Given the description of an element on the screen output the (x, y) to click on. 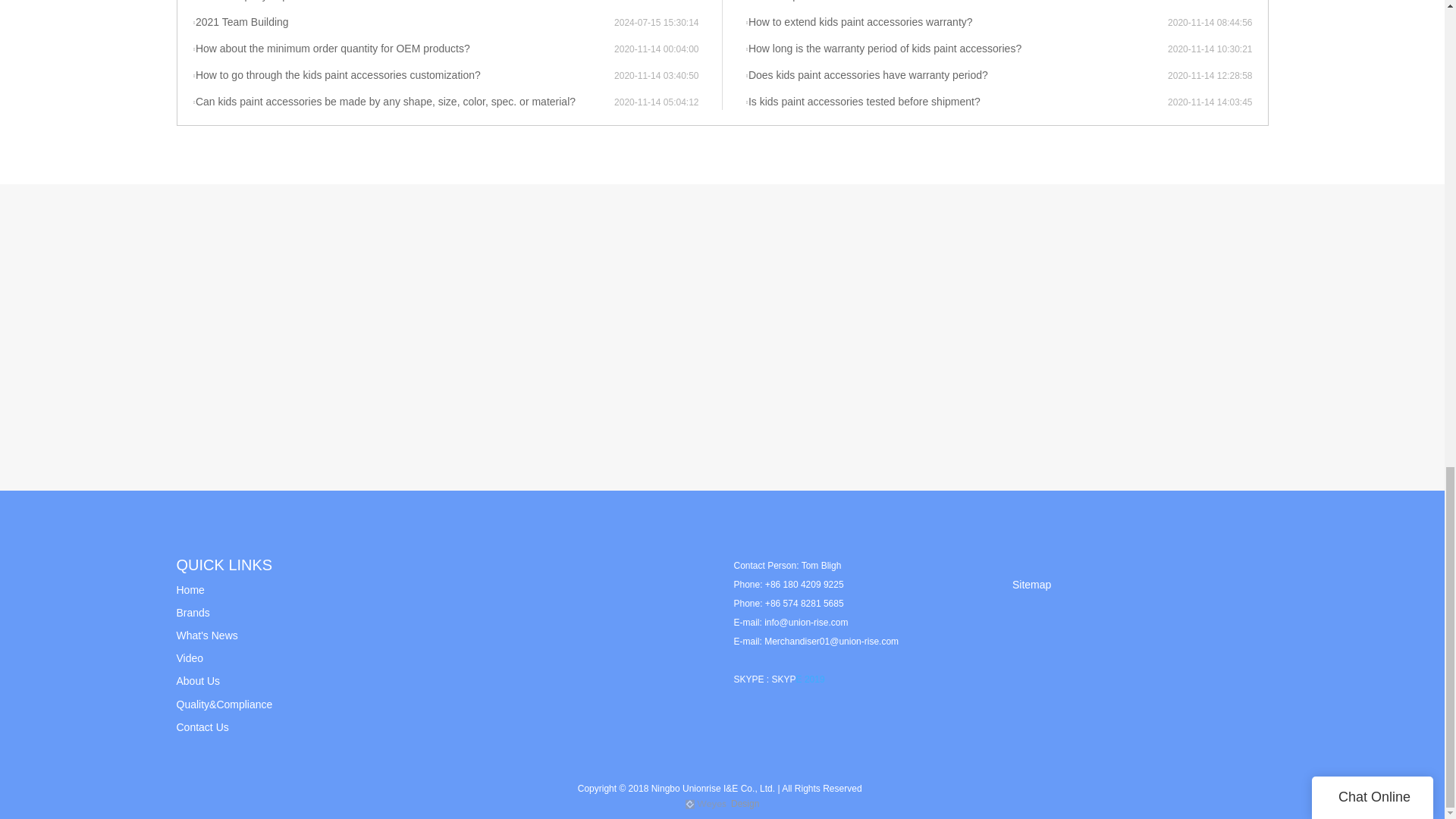
2021 Team Building (403, 22)
How to go through the kids paint accessories customization? (403, 75)
How about the minimum order quantity for OEM products? (403, 48)
